Given the description of an element on the screen output the (x, y) to click on. 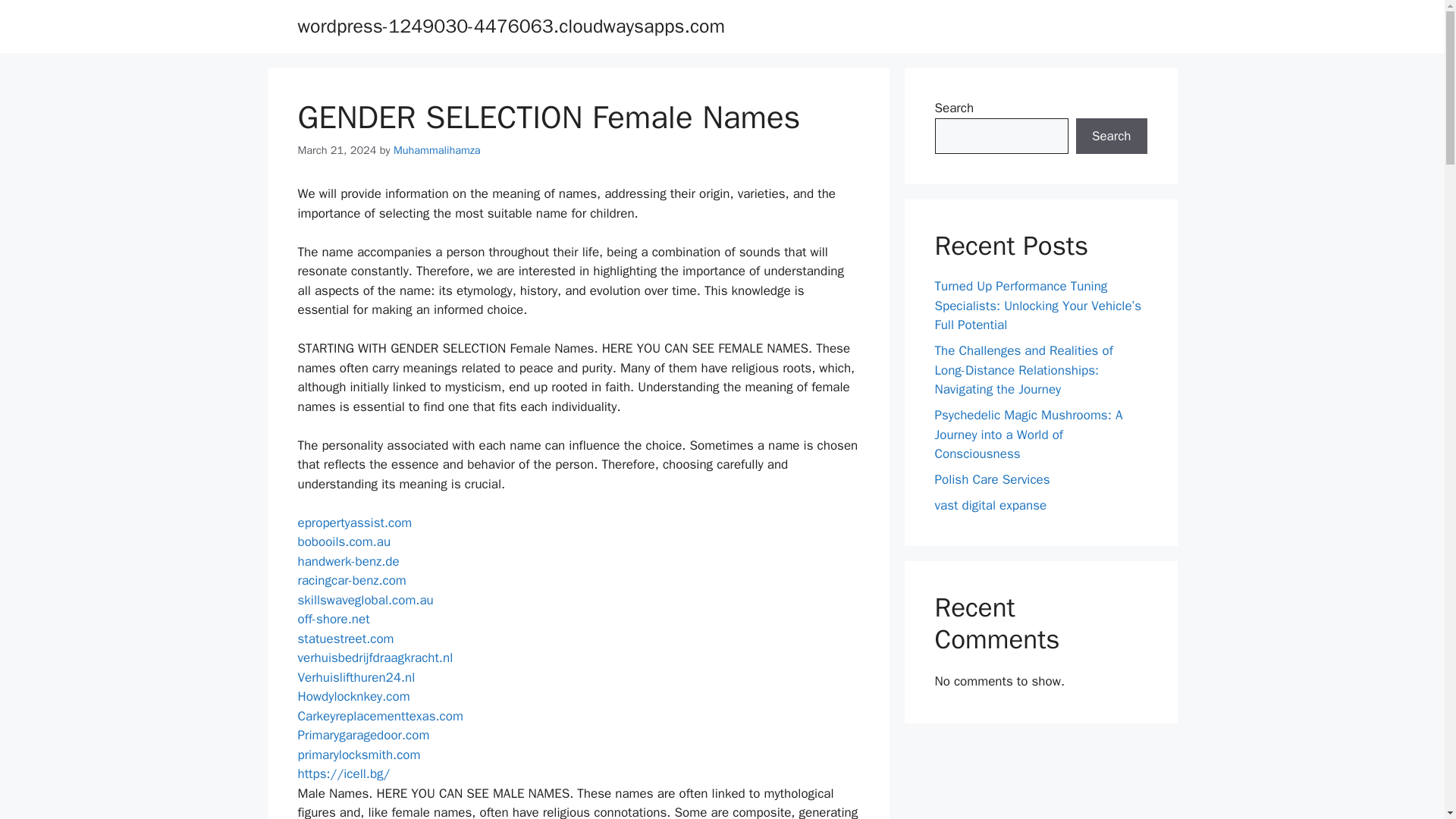
wordpress-1249030-4476063.cloudwaysapps.com (510, 25)
Primarygaragedoor.com (363, 734)
Carkeyreplacementtexas.com (380, 715)
handwerk-benz.de (347, 561)
epropertyassist.com (354, 522)
Polish Care Services (991, 479)
Howdylocknkey.com (353, 696)
bobooils.com.au (343, 541)
racingcar-benz.com (351, 580)
Muhammalihamza (436, 150)
statuestreet.com (345, 638)
Verhuislifthuren24.nl (355, 677)
skillswaveglobal.com.au (364, 600)
